Given the description of an element on the screen output the (x, y) to click on. 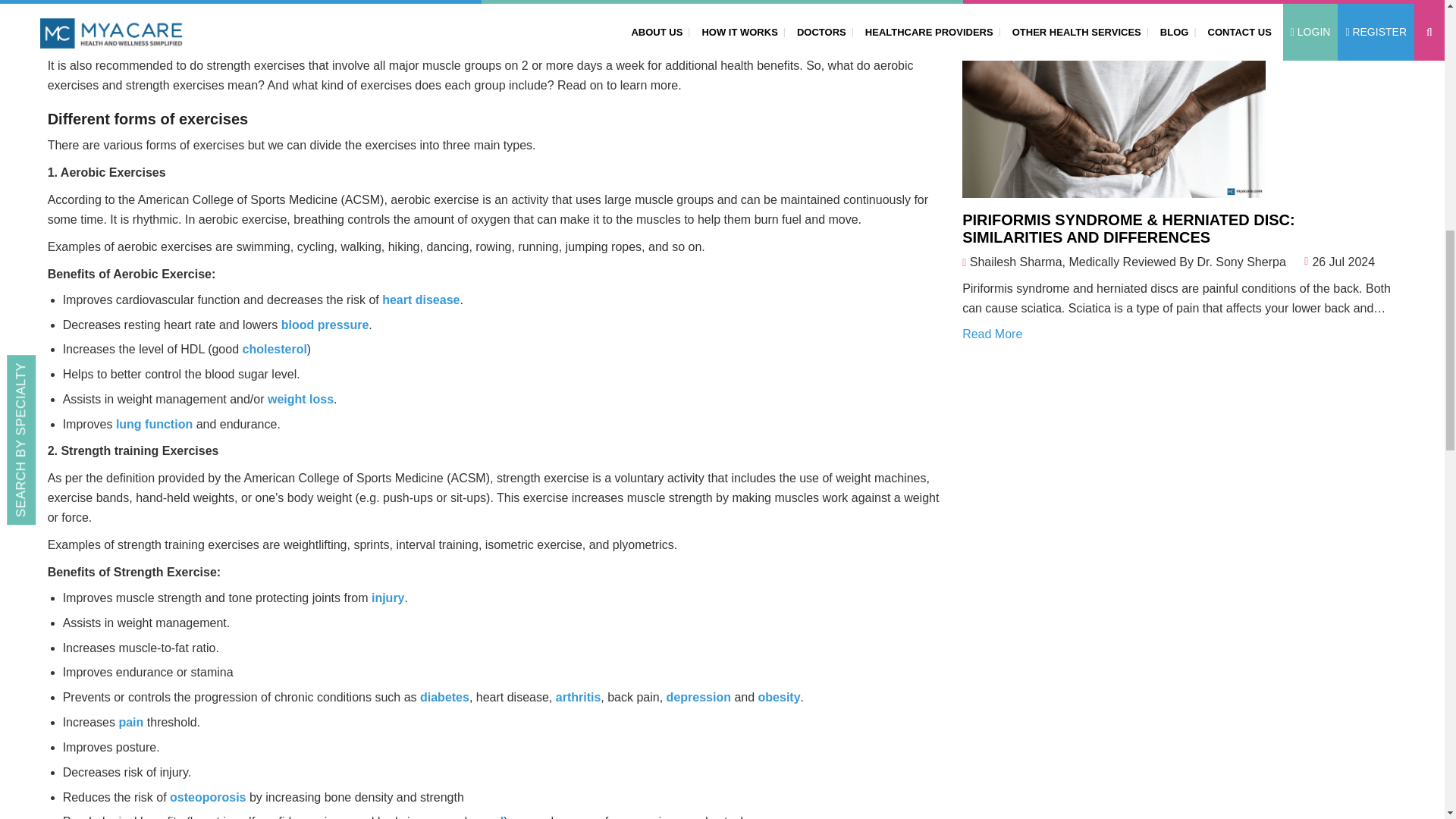
cholesterol (275, 349)
blood pressure (325, 324)
diabetes (444, 697)
heart disease (420, 299)
arthritis (578, 697)
lung function (154, 423)
injury (387, 597)
weight loss (300, 399)
depression (698, 697)
obesity (779, 697)
